Given the description of an element on the screen output the (x, y) to click on. 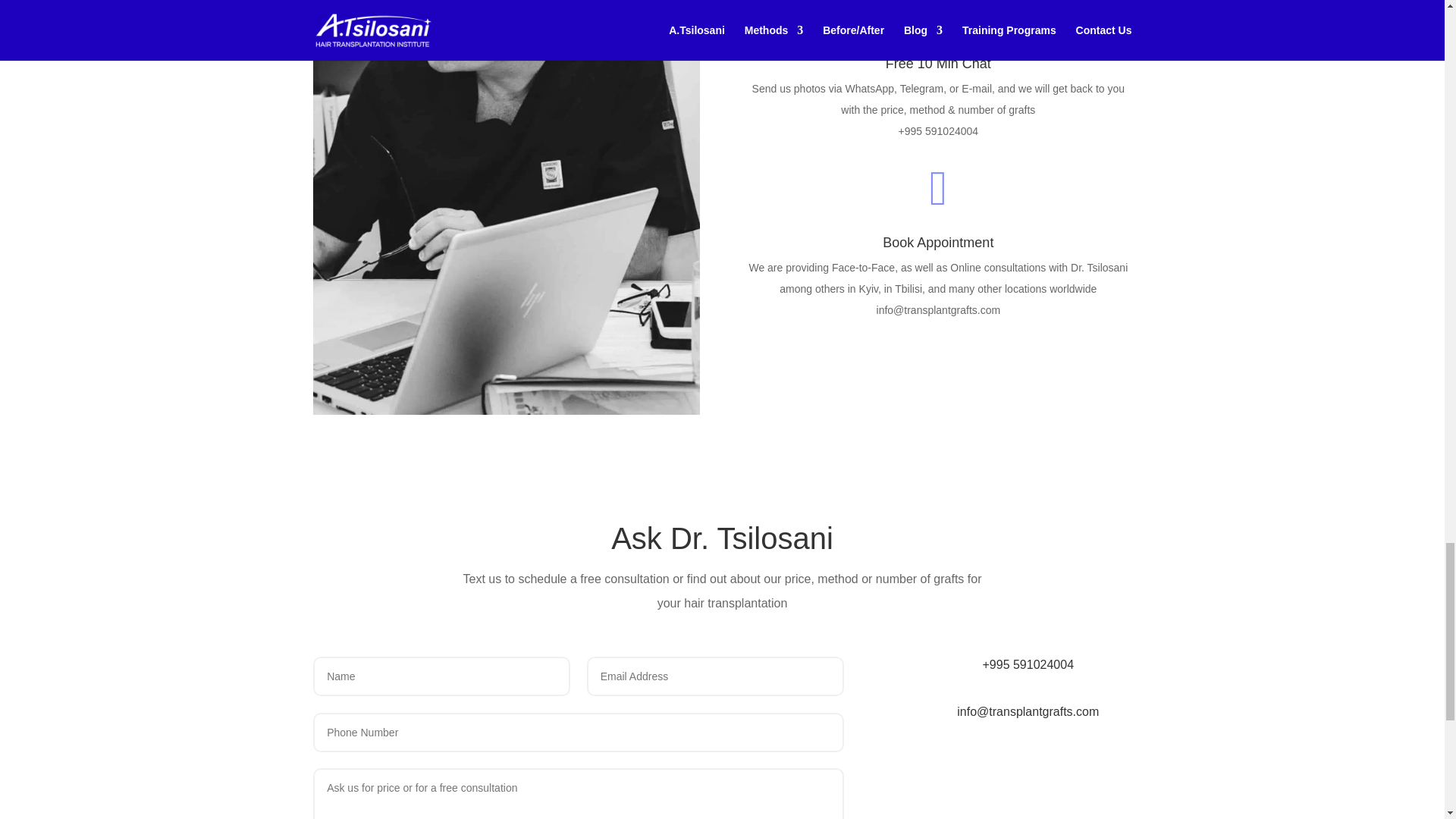
w (937, 17)
B64E9D24-8B96-4605-A8F3-9479A91B1B98 (505, 410)
Free 10 Min Chat (938, 63)
Book Appointment (937, 242)
